Given the description of an element on the screen output the (x, y) to click on. 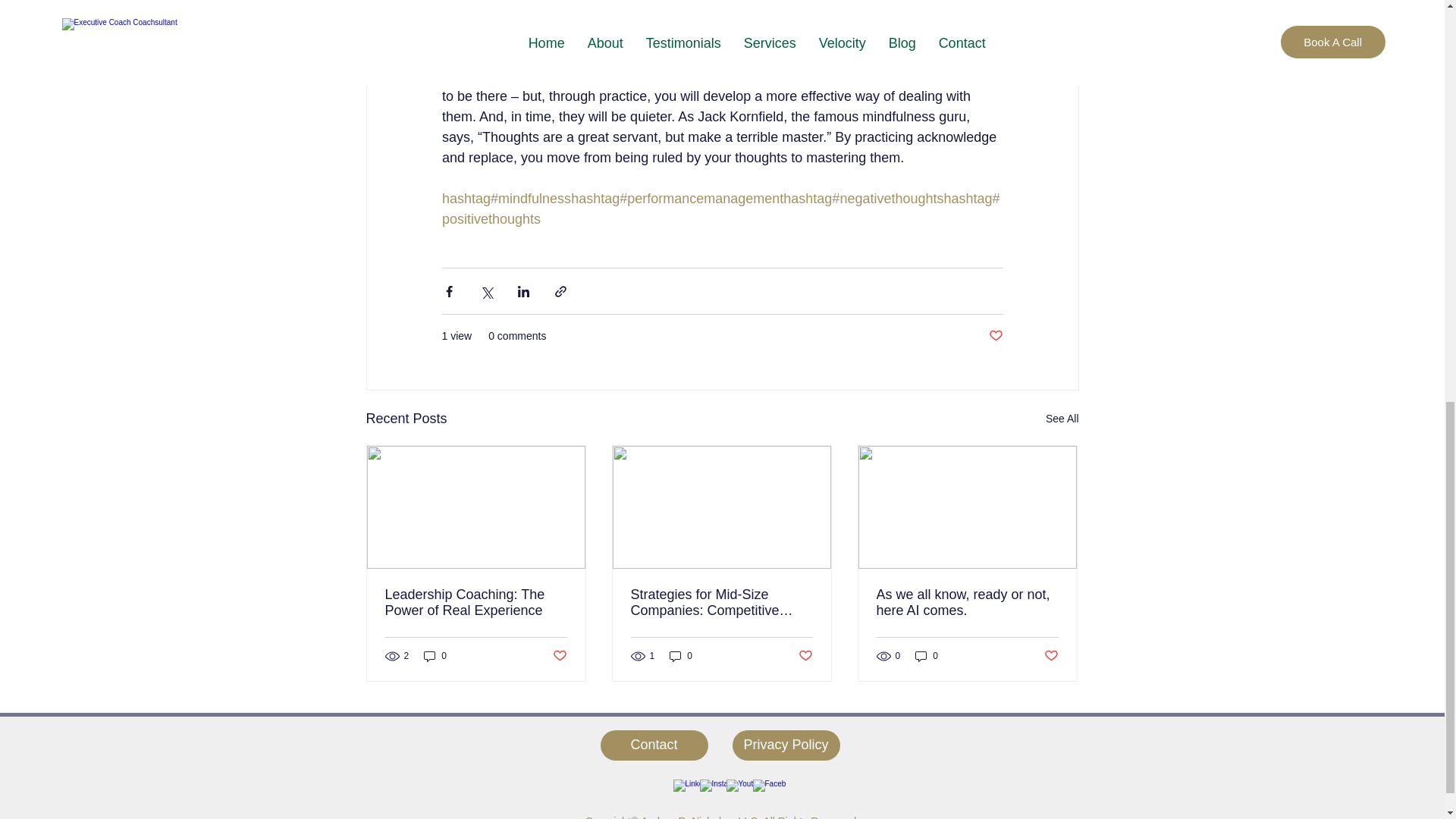
Contact (653, 745)
As we all know, ready or not, here AI comes. (967, 603)
0 (681, 656)
Post not marked as liked (1050, 655)
Post not marked as liked (995, 335)
Privacy Policy (786, 745)
See All (1061, 418)
Post not marked as liked (804, 655)
Strategies for Mid-Size Companies: Competitive Edge Insights (721, 603)
Post not marked as liked (558, 655)
